Given the description of an element on the screen output the (x, y) to click on. 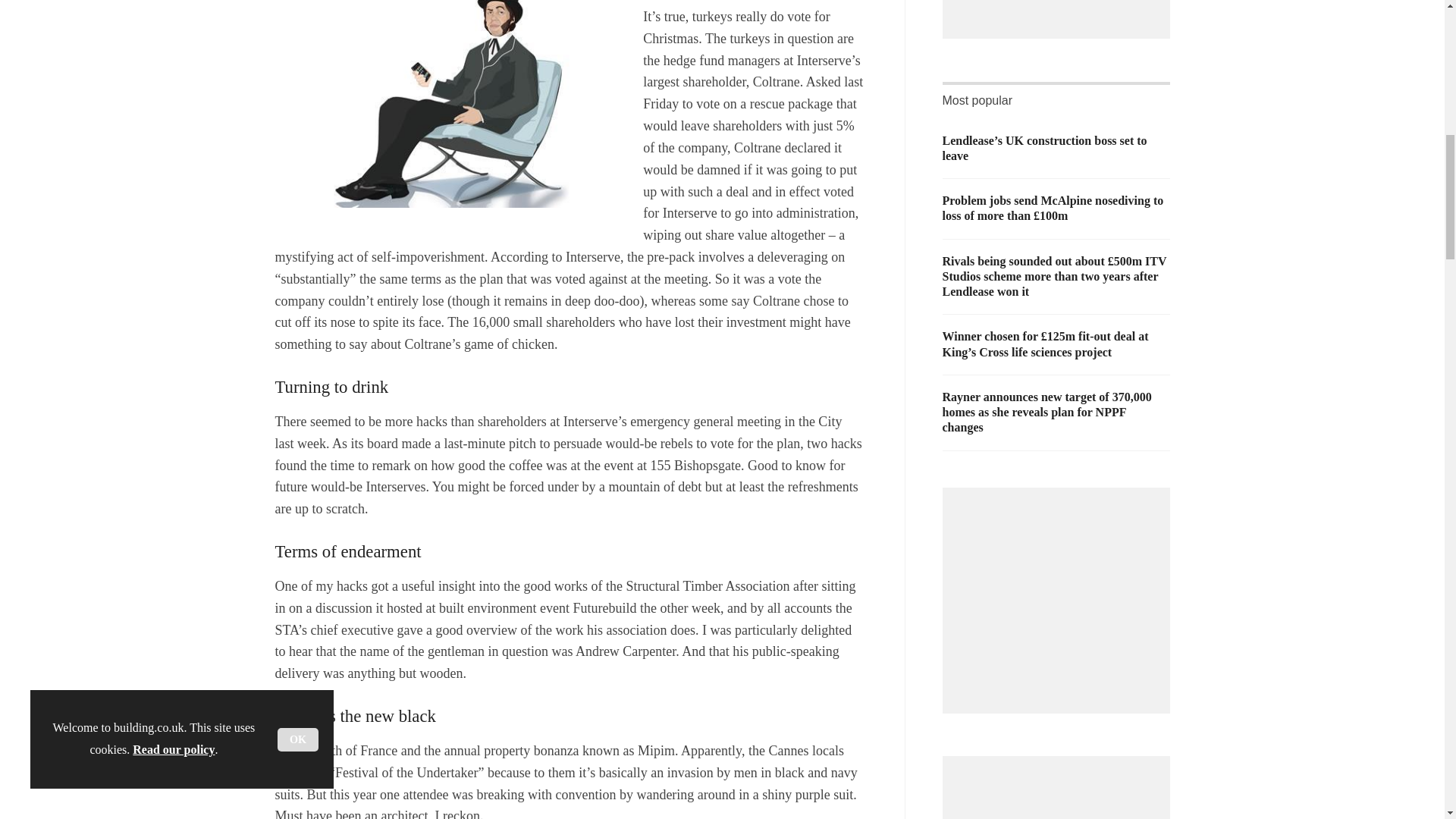
3rd party ad content (1059, 792)
3rd party ad content (1059, 6)
3rd party ad content (1059, 592)
